Given the description of an element on the screen output the (x, y) to click on. 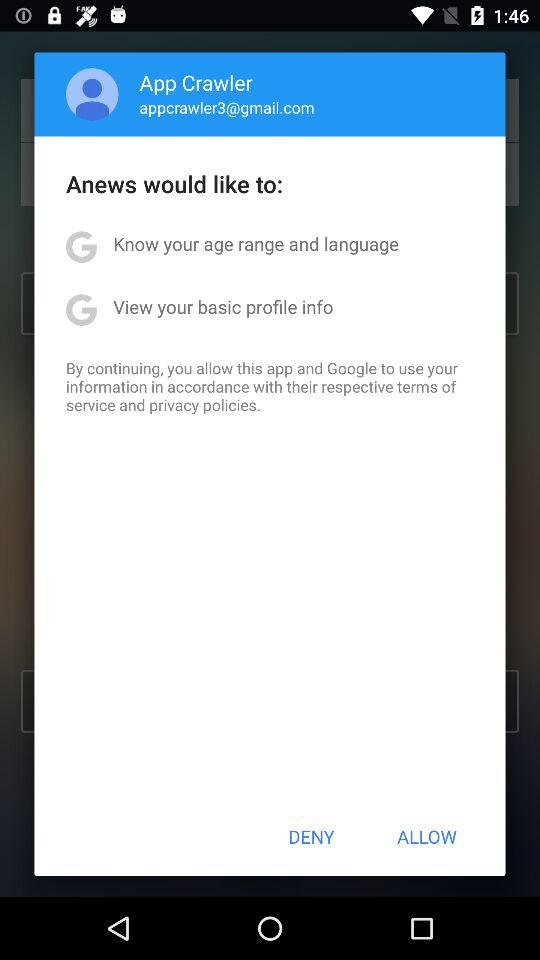
scroll to appcrawler3@gmail.com (226, 107)
